Given the description of an element on the screen output the (x, y) to click on. 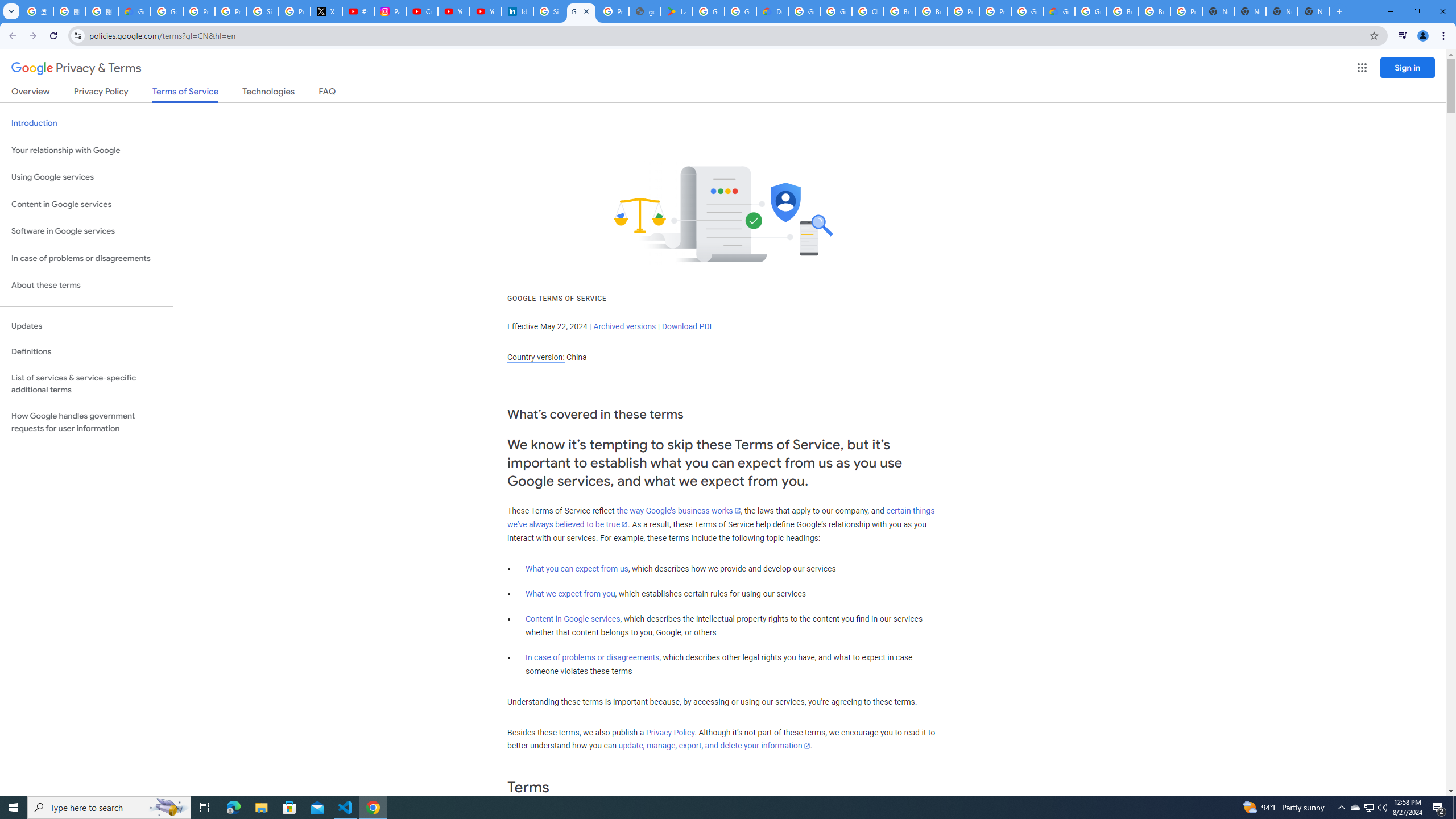
What you can expect from us (576, 568)
New Tab (1281, 11)
update, manage, export, and delete your information (714, 746)
